Given the description of an element on the screen output the (x, y) to click on. 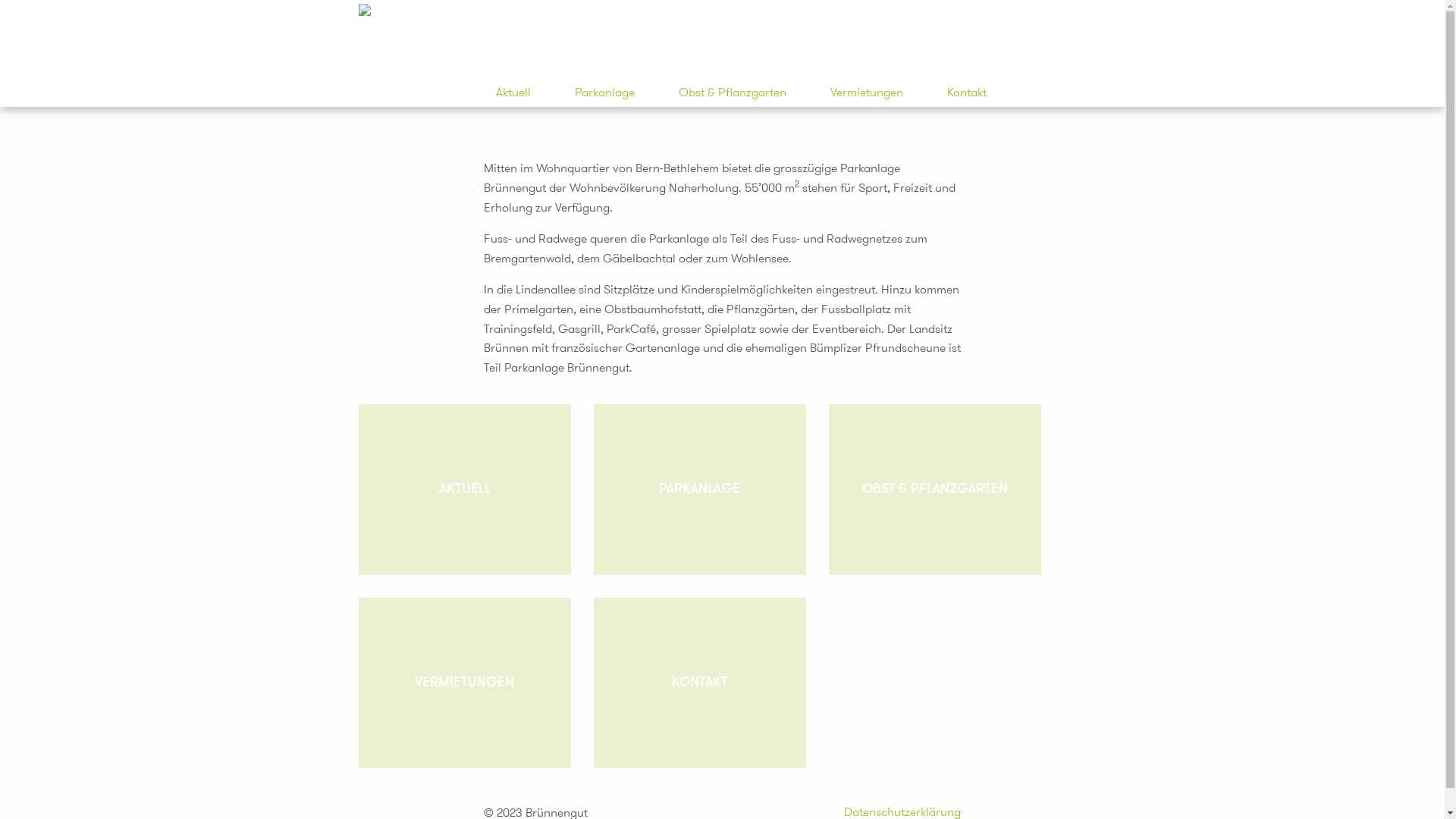
PARKANLAGE Element type: text (699, 489)
Obst & Pflanzgarten Element type: text (731, 92)
KONTAKT Element type: text (699, 682)
OBST & PFLANZGARTEN Element type: text (934, 489)
Kontakt Element type: text (965, 92)
Vermietungen Element type: text (865, 92)
AKTUELL Element type: text (463, 489)
Aktuell Element type: text (512, 92)
Parkanlage Element type: text (604, 92)
VERMIETUNGEN Element type: text (463, 682)
